Given the description of an element on the screen output the (x, y) to click on. 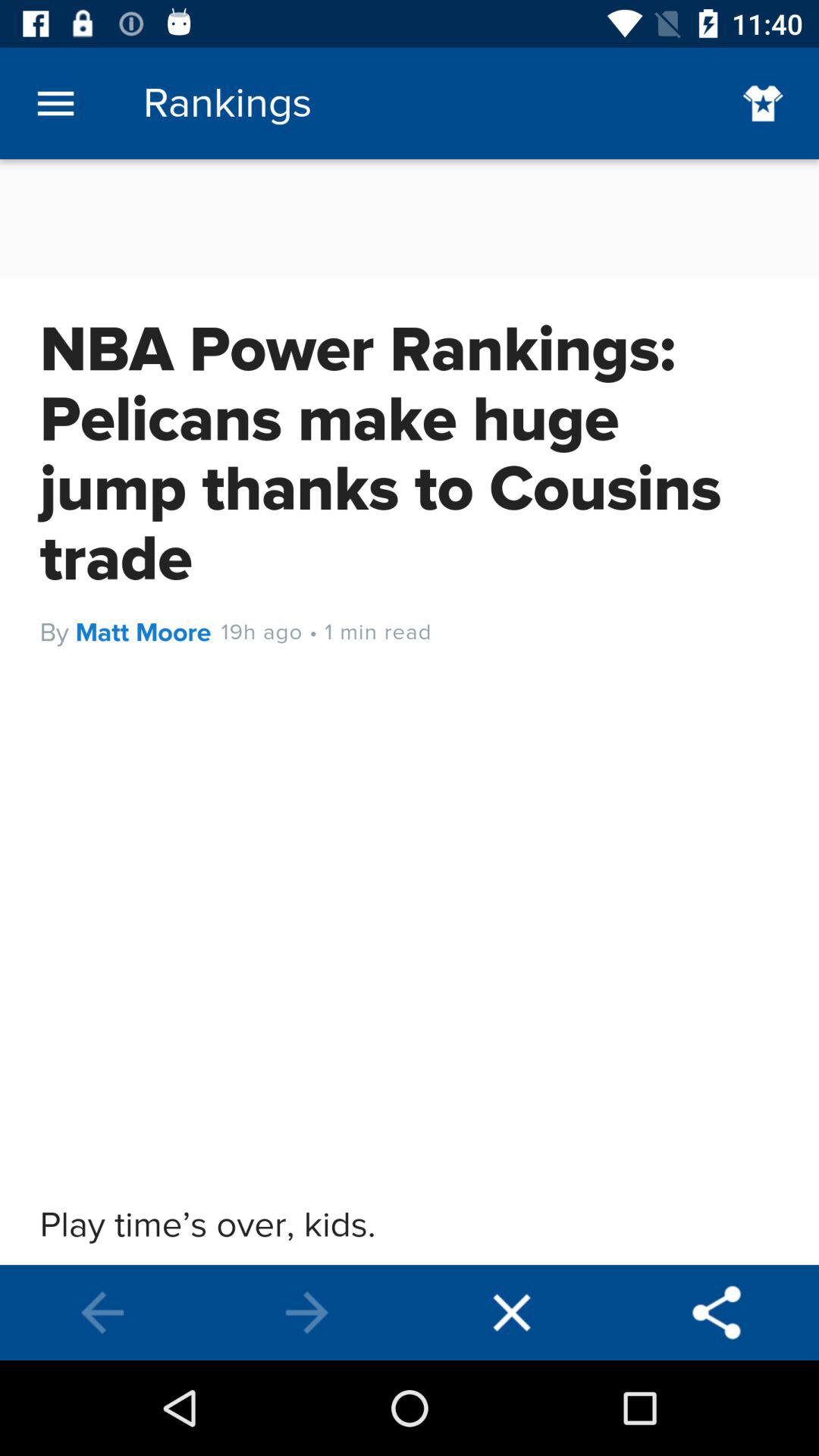
closes current page (511, 1312)
